Given the description of an element on the screen output the (x, y) to click on. 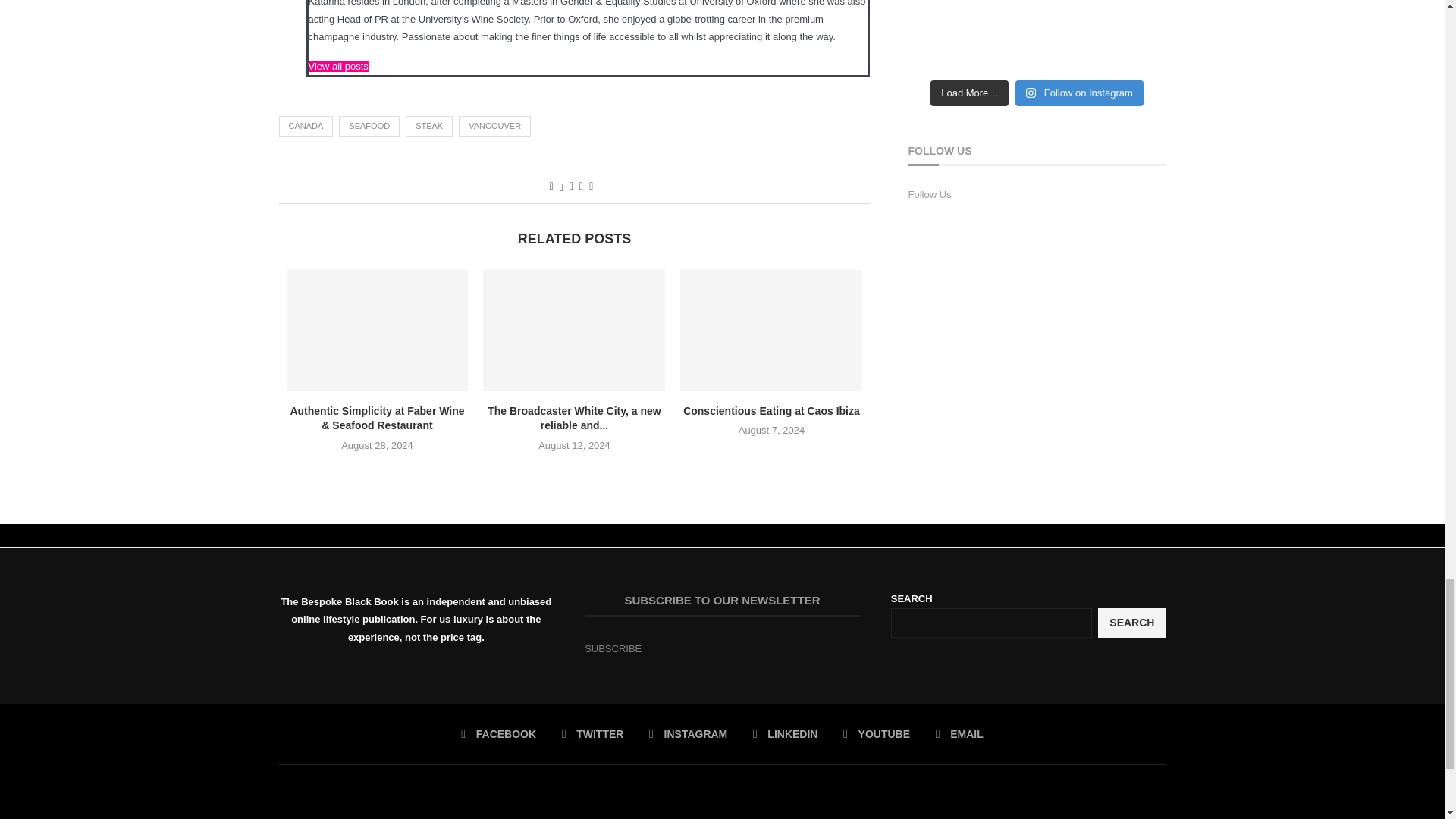
Conscientious Eating at Caos Ibiza (770, 330)
View all posts (337, 66)
